Given the description of an element on the screen output the (x, y) to click on. 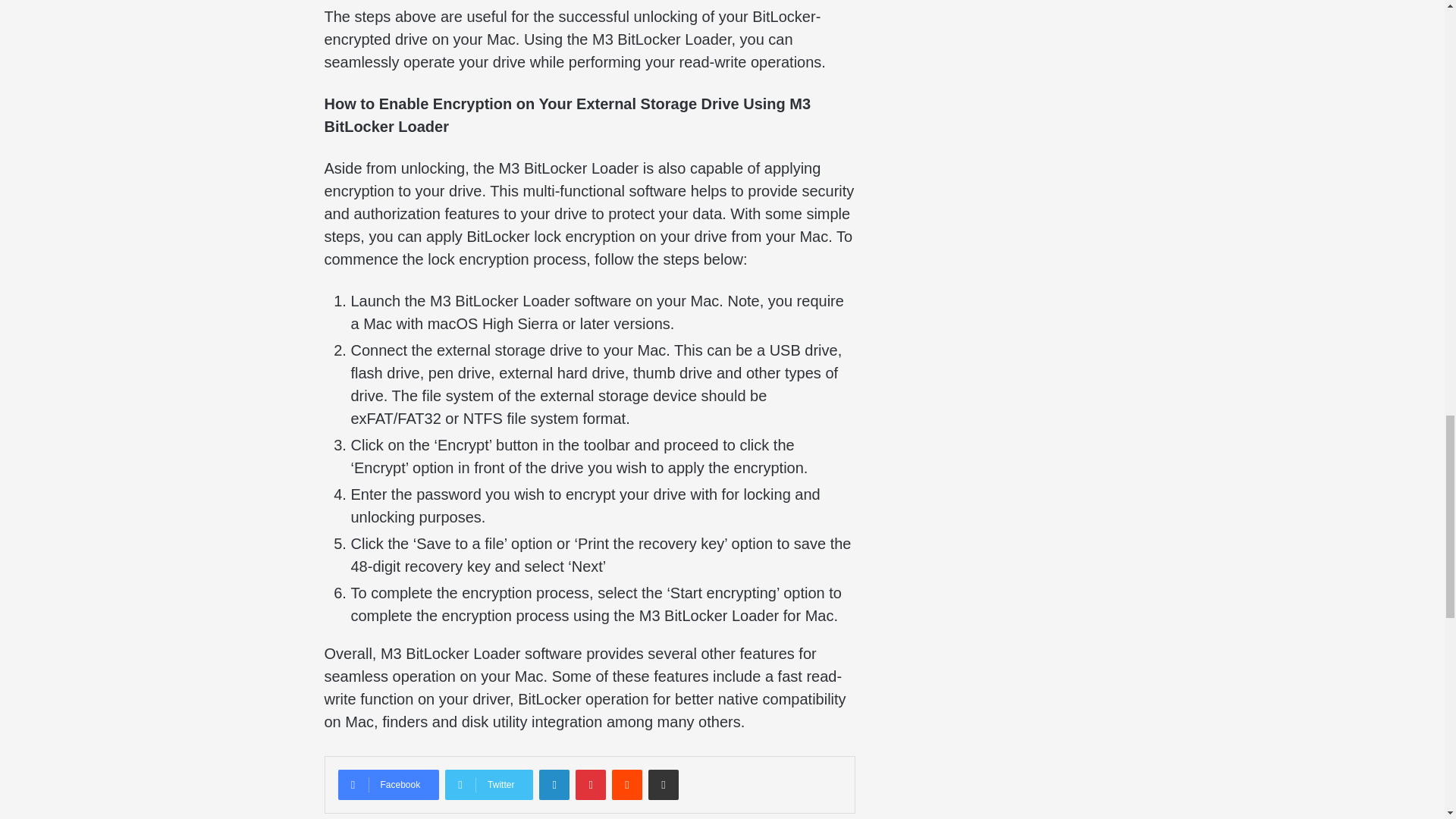
Pinterest (590, 784)
Twitter (488, 784)
Reddit (626, 784)
Reddit (626, 784)
Share via Email (662, 784)
LinkedIn (553, 784)
Facebook (388, 784)
Twitter (488, 784)
Facebook (388, 784)
Share via Email (662, 784)
